Given the description of an element on the screen output the (x, y) to click on. 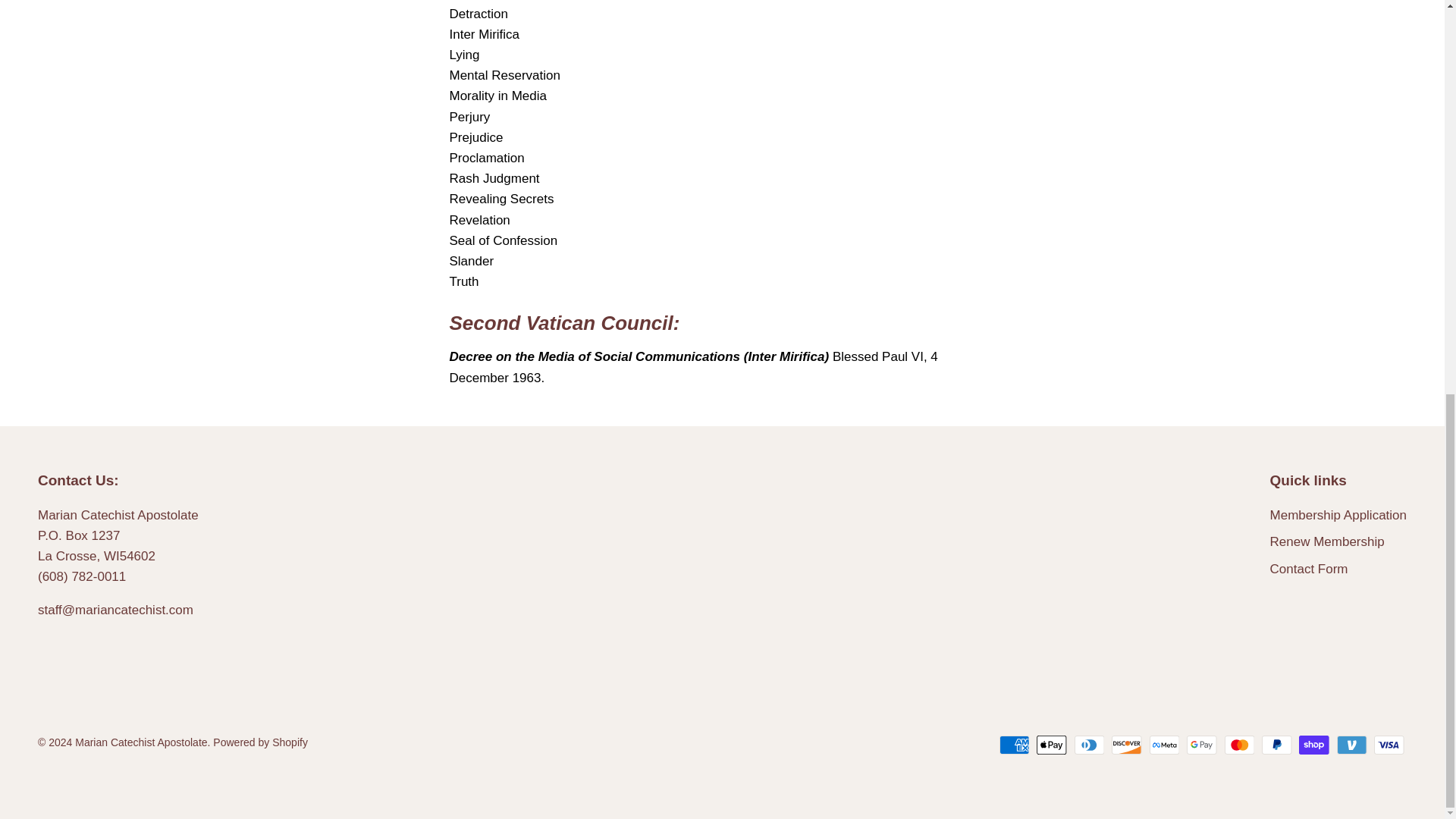
Google Pay (1201, 744)
PayPal (1276, 744)
Venmo (1351, 744)
Discover (1126, 744)
Mastercard (1239, 744)
Visa (1388, 744)
Diners Club (1089, 744)
American Express (1013, 744)
Meta Pay (1164, 744)
Apple Pay (1051, 744)
